Given the description of an element on the screen output the (x, y) to click on. 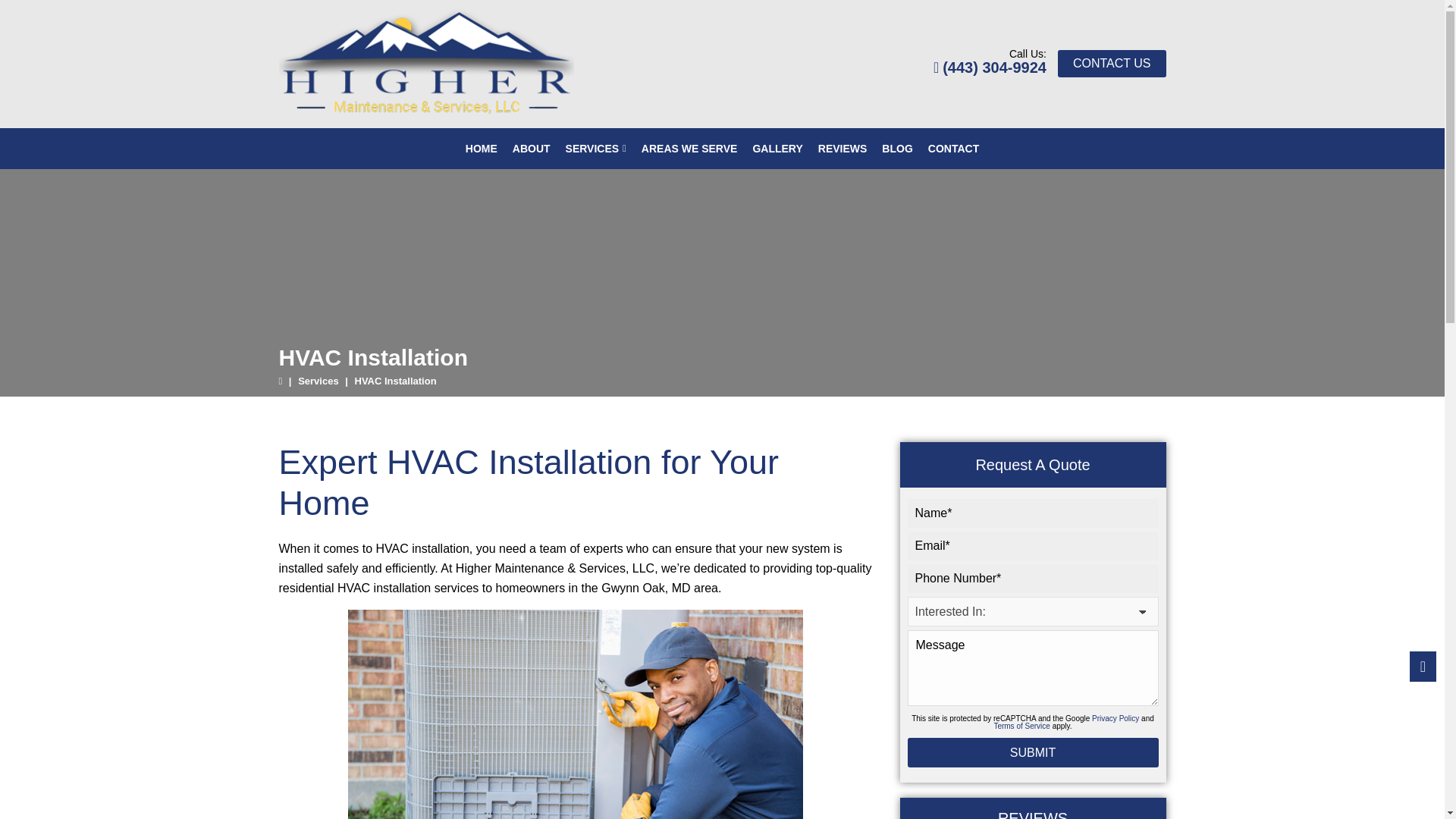
GALLERY (776, 147)
SERVICES (595, 147)
CONTACT US (1112, 62)
Submit (1032, 752)
ABOUT (531, 147)
CONTACT (953, 147)
BLOG (897, 147)
REVIEWS (842, 147)
AREAS WE SERVE (689, 147)
